Given the description of an element on the screen output the (x, y) to click on. 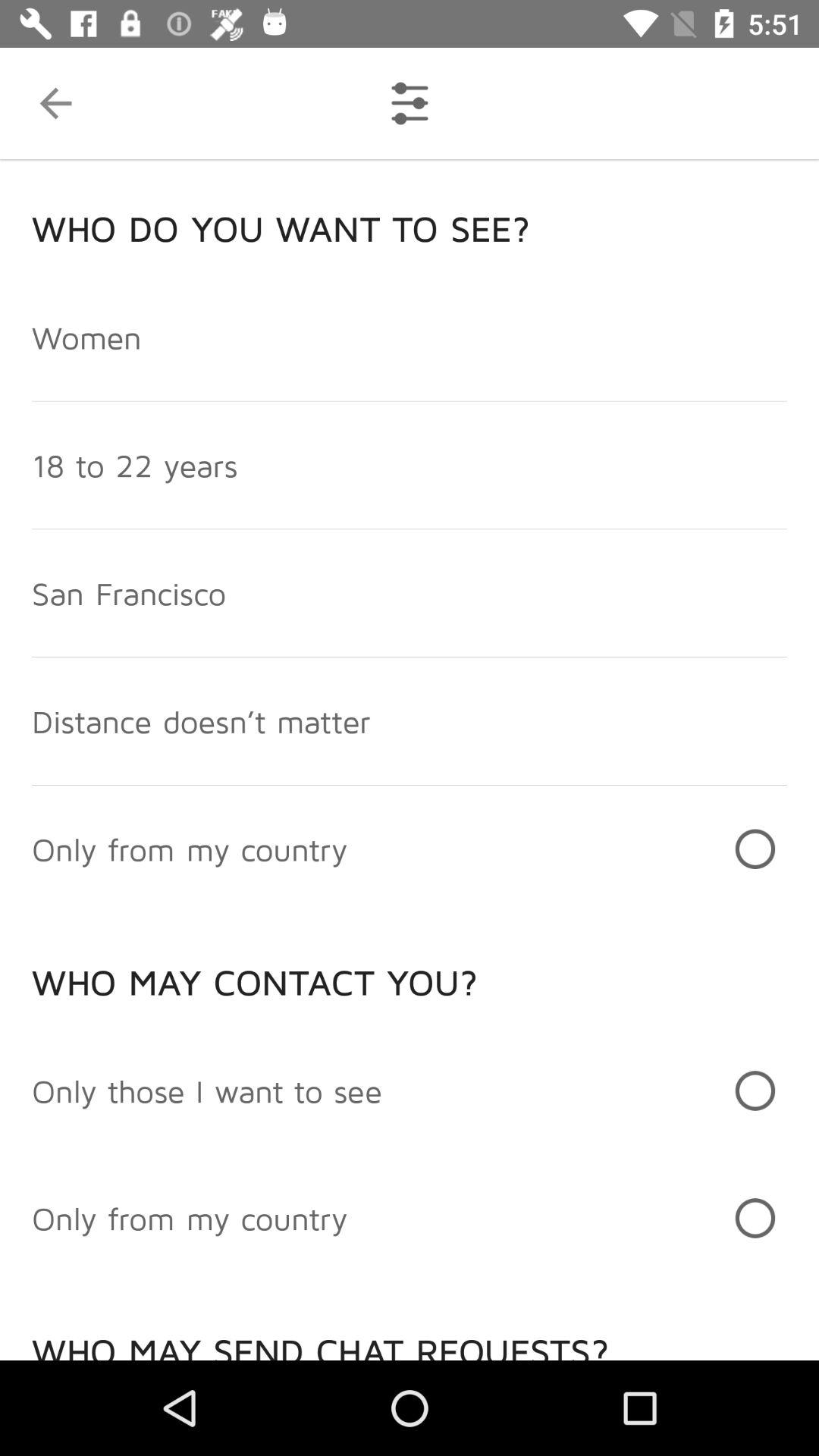
select the icon above only from my icon (206, 1090)
